Given the description of an element on the screen output the (x, y) to click on. 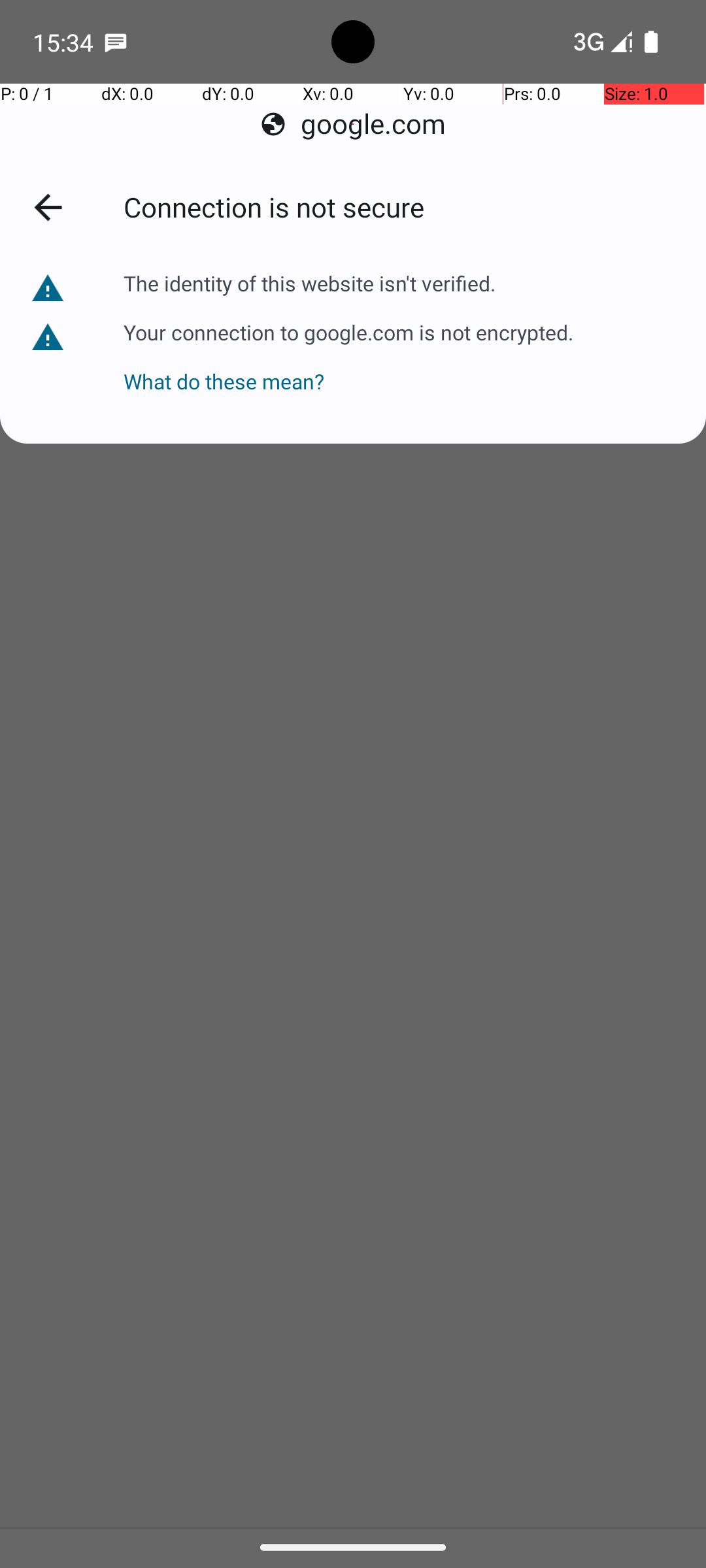
Back Element type: android.widget.ImageButton (47, 206)
Connection is not secure Element type: android.widget.TextView (400, 206)
The identity of this website isn't verified. Element type: android.widget.TextView (309, 283)
Your connection to google.com is not encrypted. Element type: android.widget.TextView (348, 332)
What do these mean? Element type: android.widget.TextView (348, 370)
google.com Element type: android.widget.TextView (352, 124)
SMS Messenger notification: +10214033213 Element type: android.widget.ImageView (115, 41)
